Given the description of an element on the screen output the (x, y) to click on. 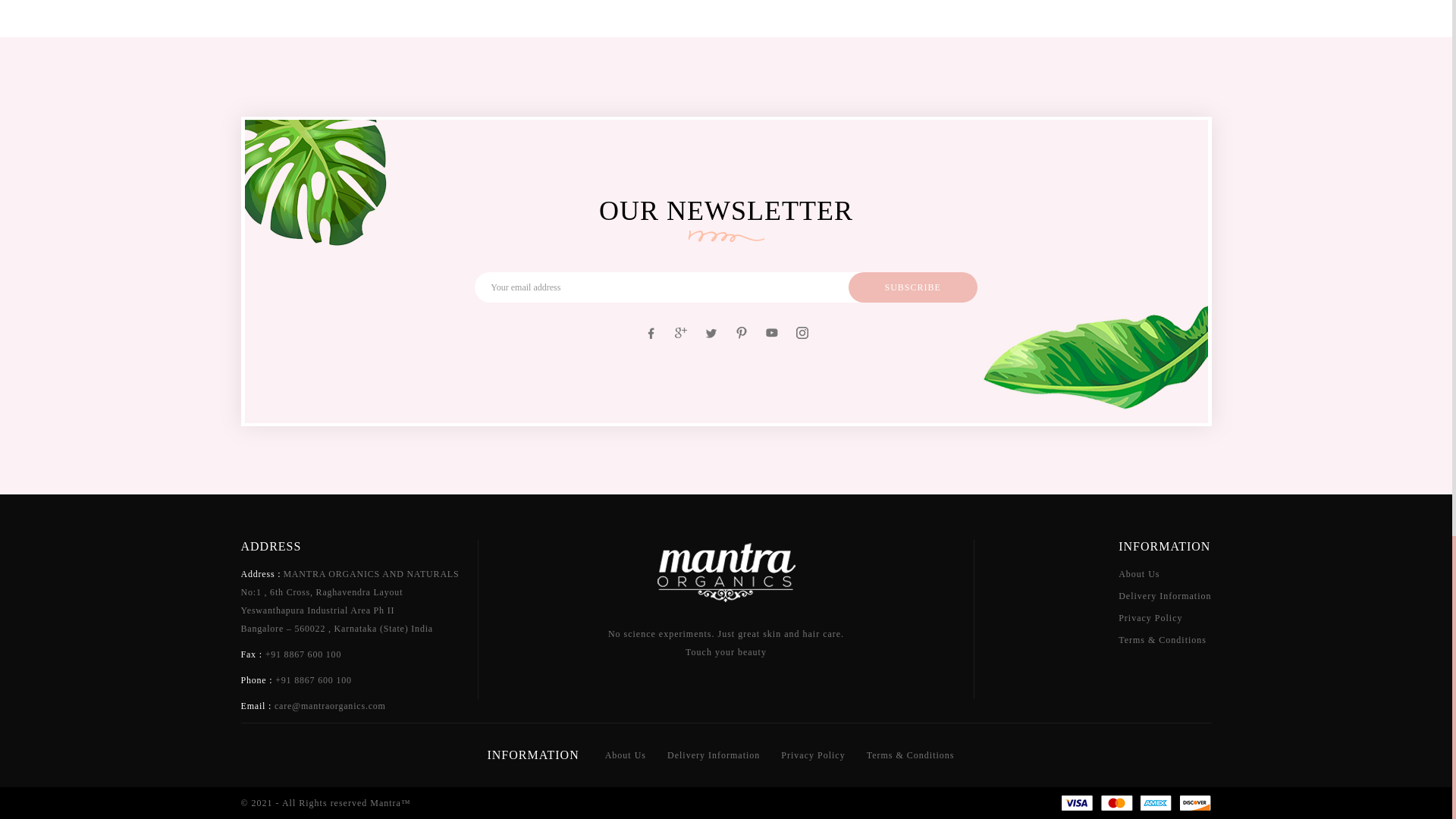
Subscribe (912, 286)
Our terms and conditions of delivery (1164, 595)
Our terms and conditions of delivery (1162, 639)
Our terms and conditions of delivery (1150, 617)
Our terms and conditions of delivery (812, 755)
Our terms and conditions of delivery (910, 755)
Our terms and conditions of delivery (713, 755)
Our terms and conditions of delivery (625, 755)
Our terms and conditions of delivery (1138, 573)
